Given the description of an element on the screen output the (x, y) to click on. 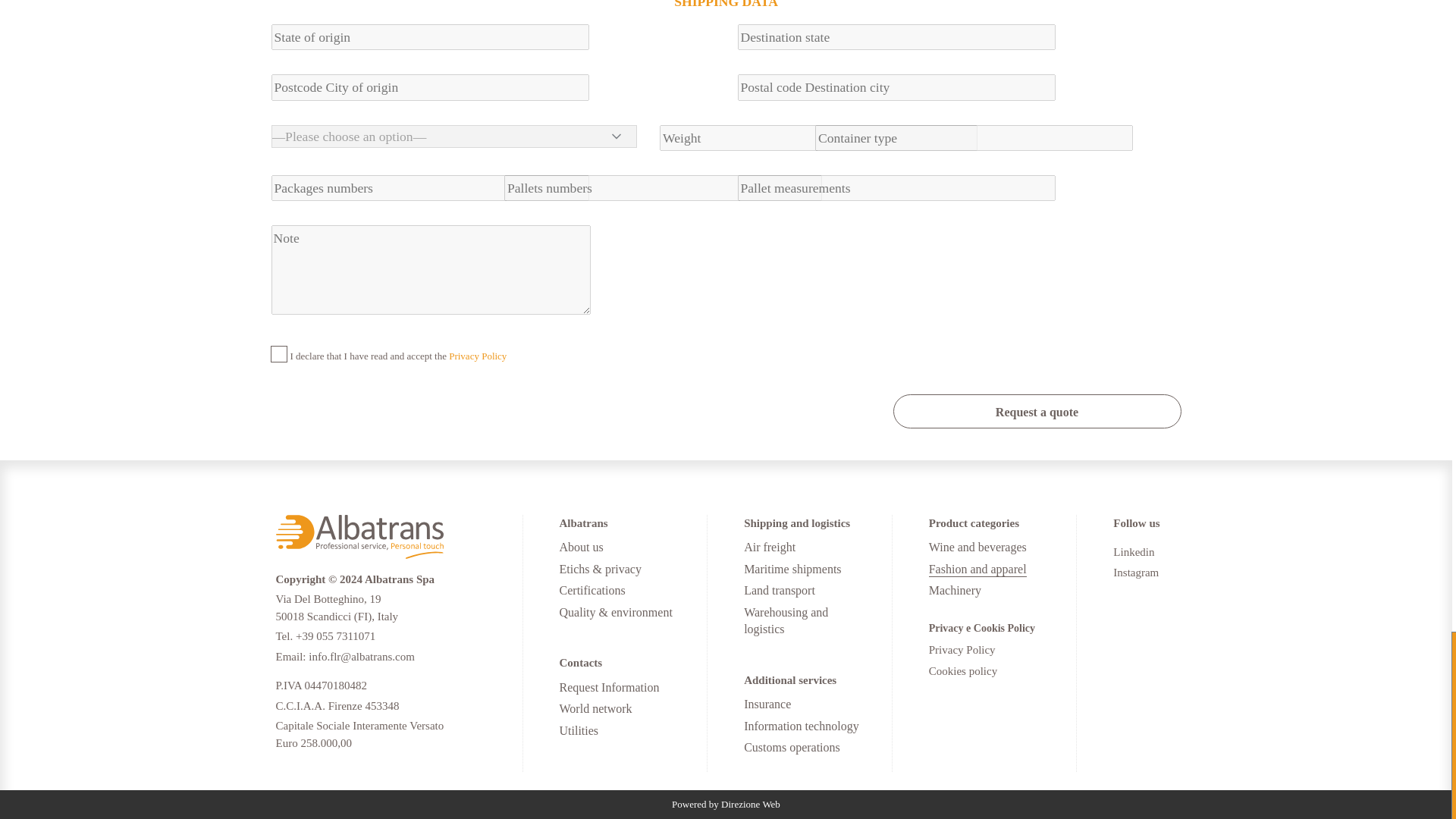
Request a quote (1036, 410)
